Given the description of an element on the screen output the (x, y) to click on. 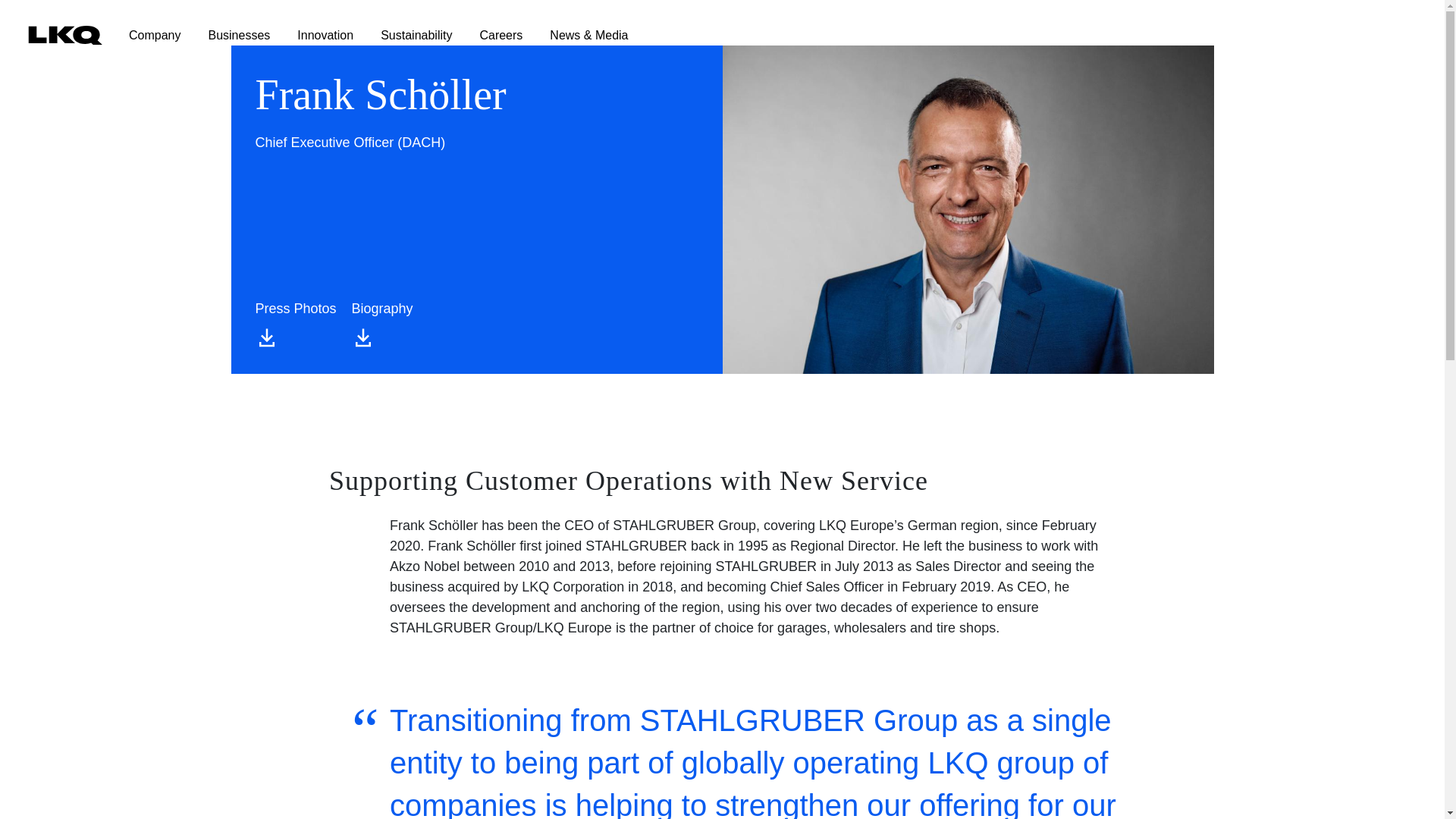
Skip to main content (60, 11)
Sustainability (402, 26)
Parent menu Sustainability (402, 26)
Careers (486, 26)
Businesses (224, 26)
Company (140, 26)
Parent menu Careers (486, 26)
Home (46, 38)
Parent menu Businesses (224, 26)
Parent menu Innovation (311, 26)
